Given the description of an element on the screen output the (x, y) to click on. 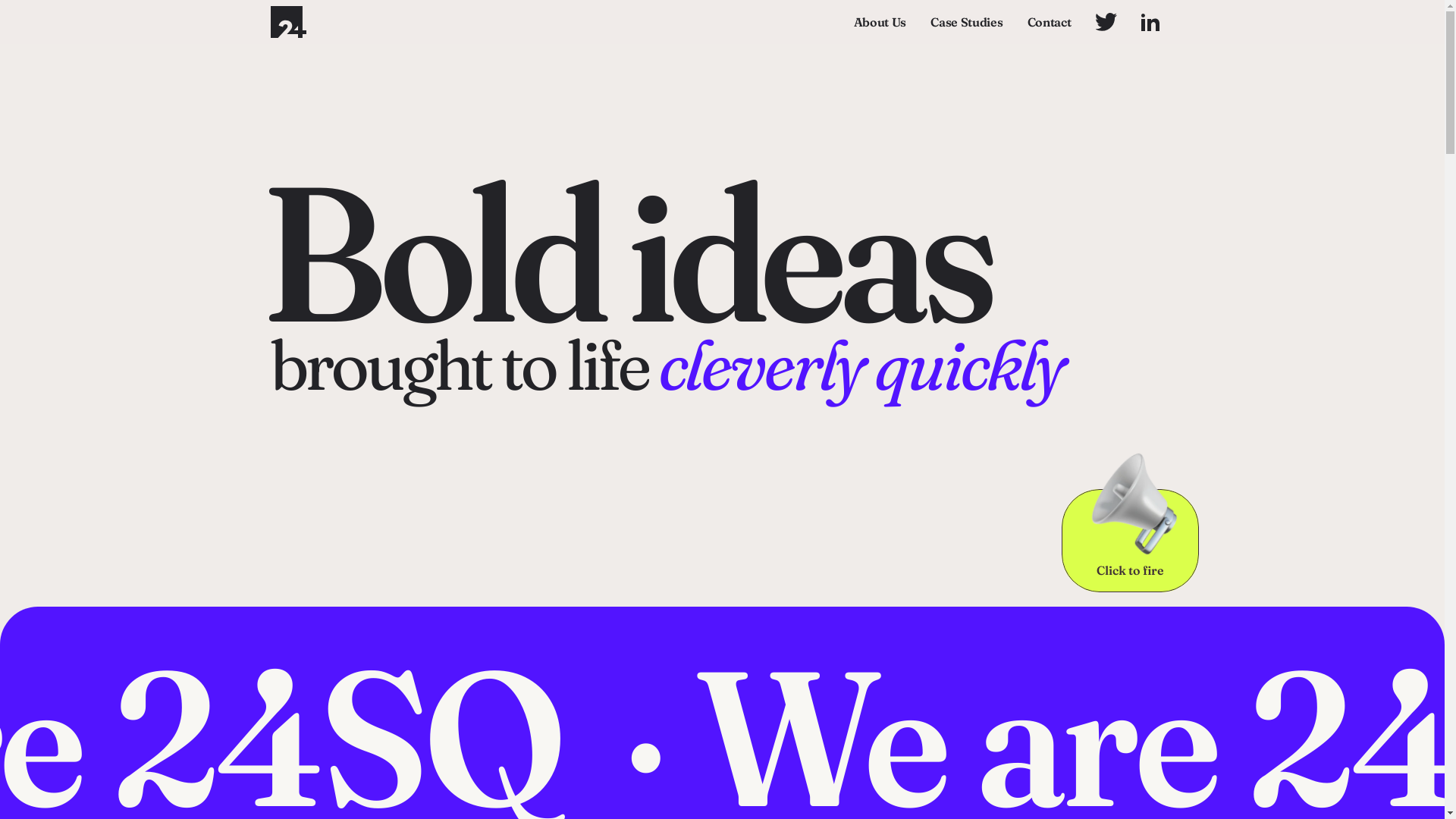
About Us Element type: text (879, 21)
Contact Element type: text (1049, 21)
Case Studies Element type: text (966, 21)
